Given the description of an element on the screen output the (x, y) to click on. 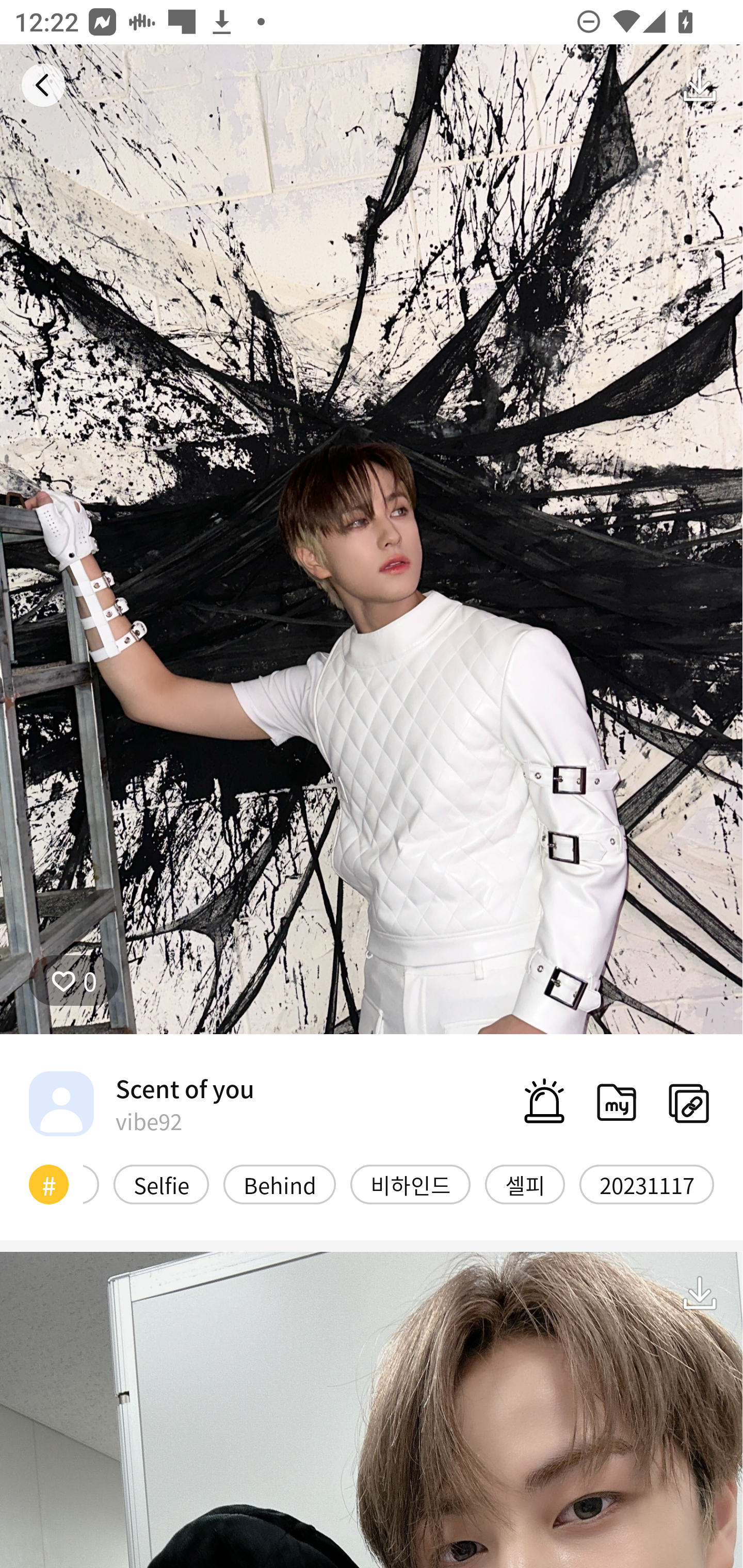
0 (73, 980)
Scent of you vibe92 (141, 1102)
Selfie (160, 1184)
Behind (279, 1184)
비하인드 (410, 1184)
셀피 (524, 1184)
20231117 (646, 1184)
